Given the description of an element on the screen output the (x, y) to click on. 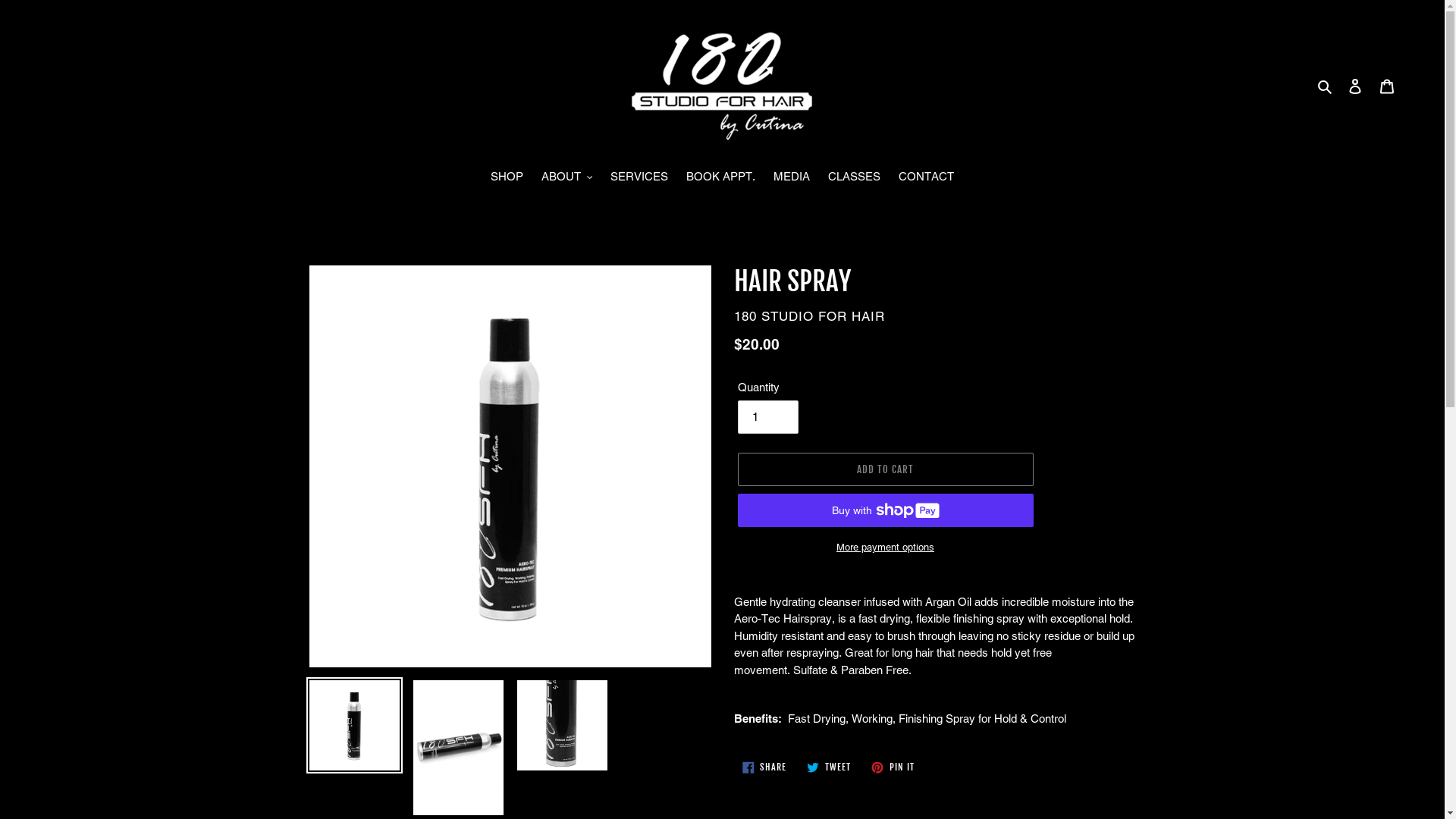
ABOUT Element type: text (566, 178)
PIN IT
PIN ON PINTEREST Element type: text (892, 767)
Log in Element type: text (1355, 85)
BOOK APPT. Element type: text (720, 178)
Cart Element type: text (1386, 85)
Search Element type: text (1325, 85)
SHOP Element type: text (506, 178)
SERVICES Element type: text (638, 178)
CONTACT Element type: text (926, 178)
More payment options Element type: text (884, 547)
TWEET
TWEET ON TWITTER Element type: text (828, 767)
MEDIA Element type: text (791, 178)
SHARE
SHARE ON FACEBOOK Element type: text (764, 767)
ADD TO CART Element type: text (884, 469)
CLASSES Element type: text (854, 178)
